Given the description of an element on the screen output the (x, y) to click on. 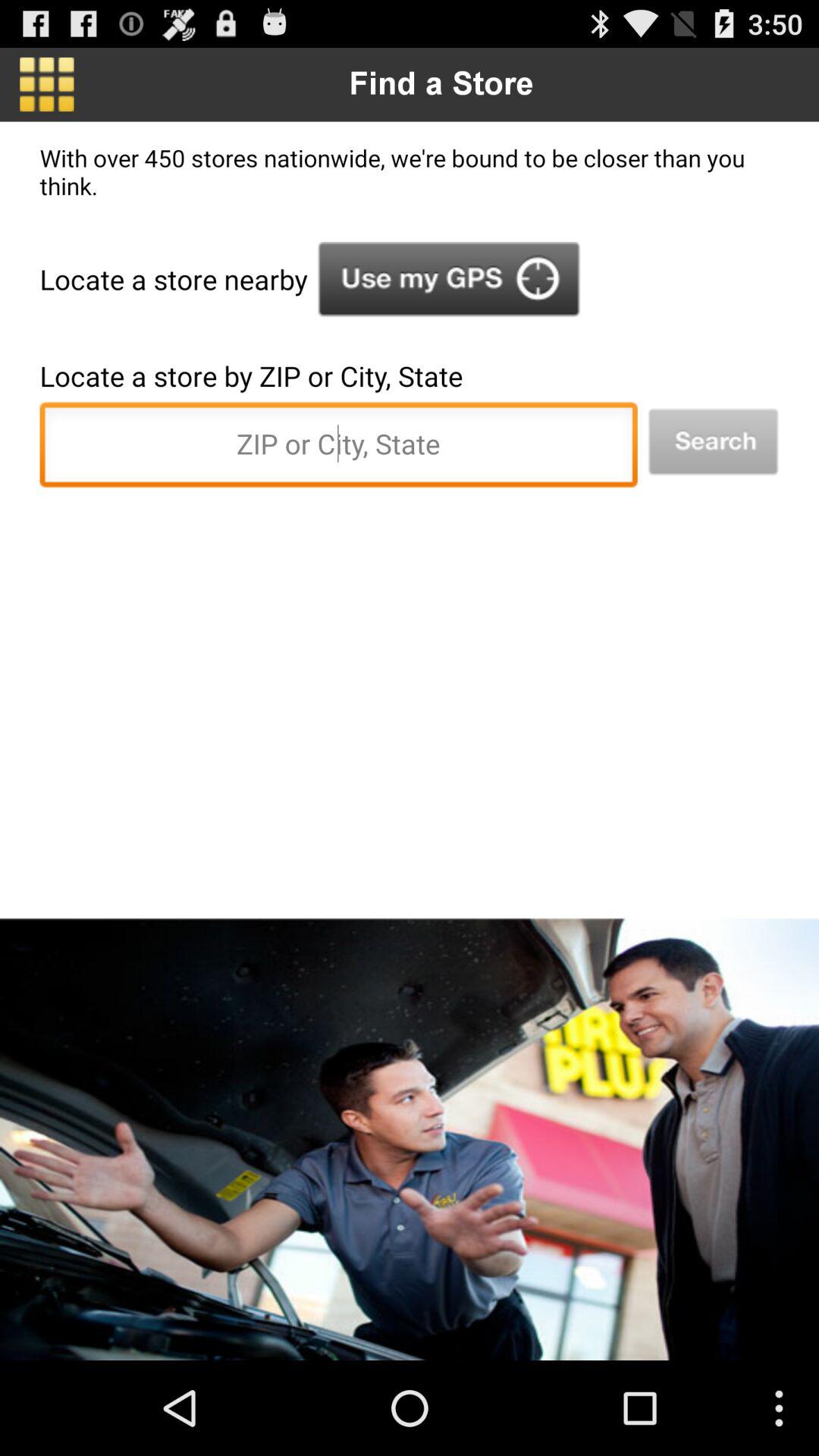
tap the app to the left of the find a store icon (46, 84)
